Given the description of an element on the screen output the (x, y) to click on. 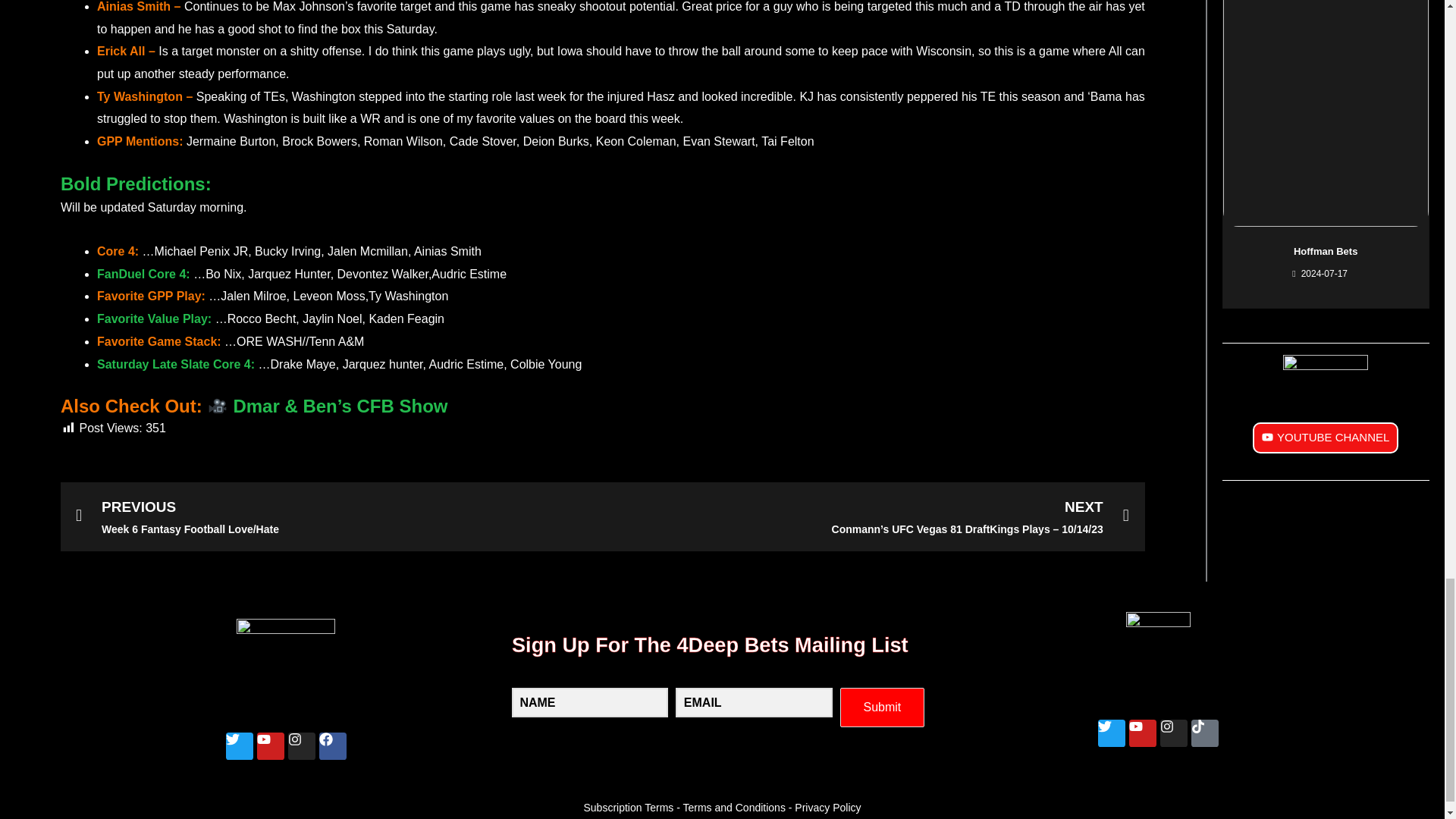
Hoffman Bets (1326, 251)
